Given the description of an element on the screen output the (x, y) to click on. 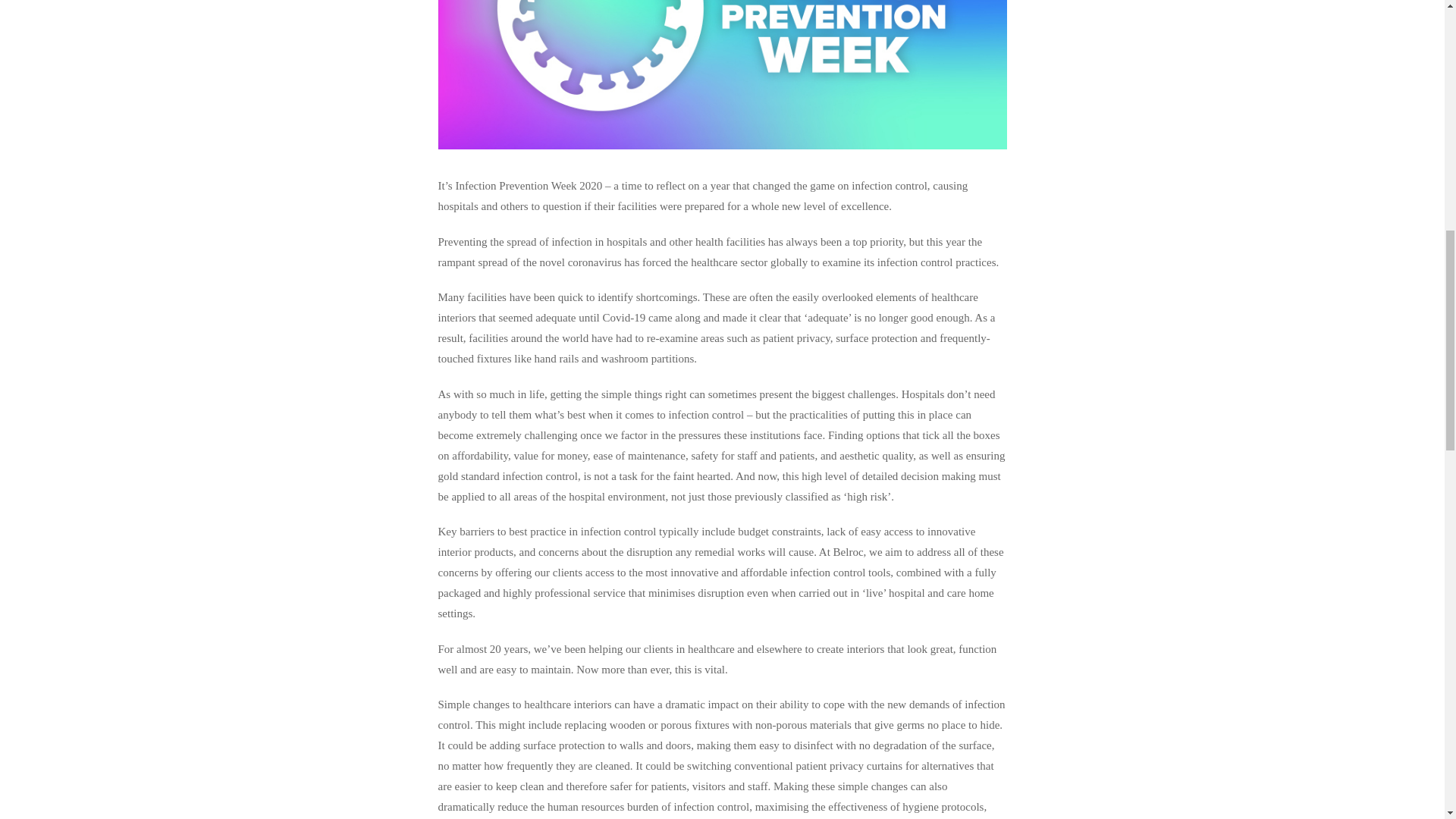
banner01 (722, 74)
